Given the description of an element on the screen output the (x, y) to click on. 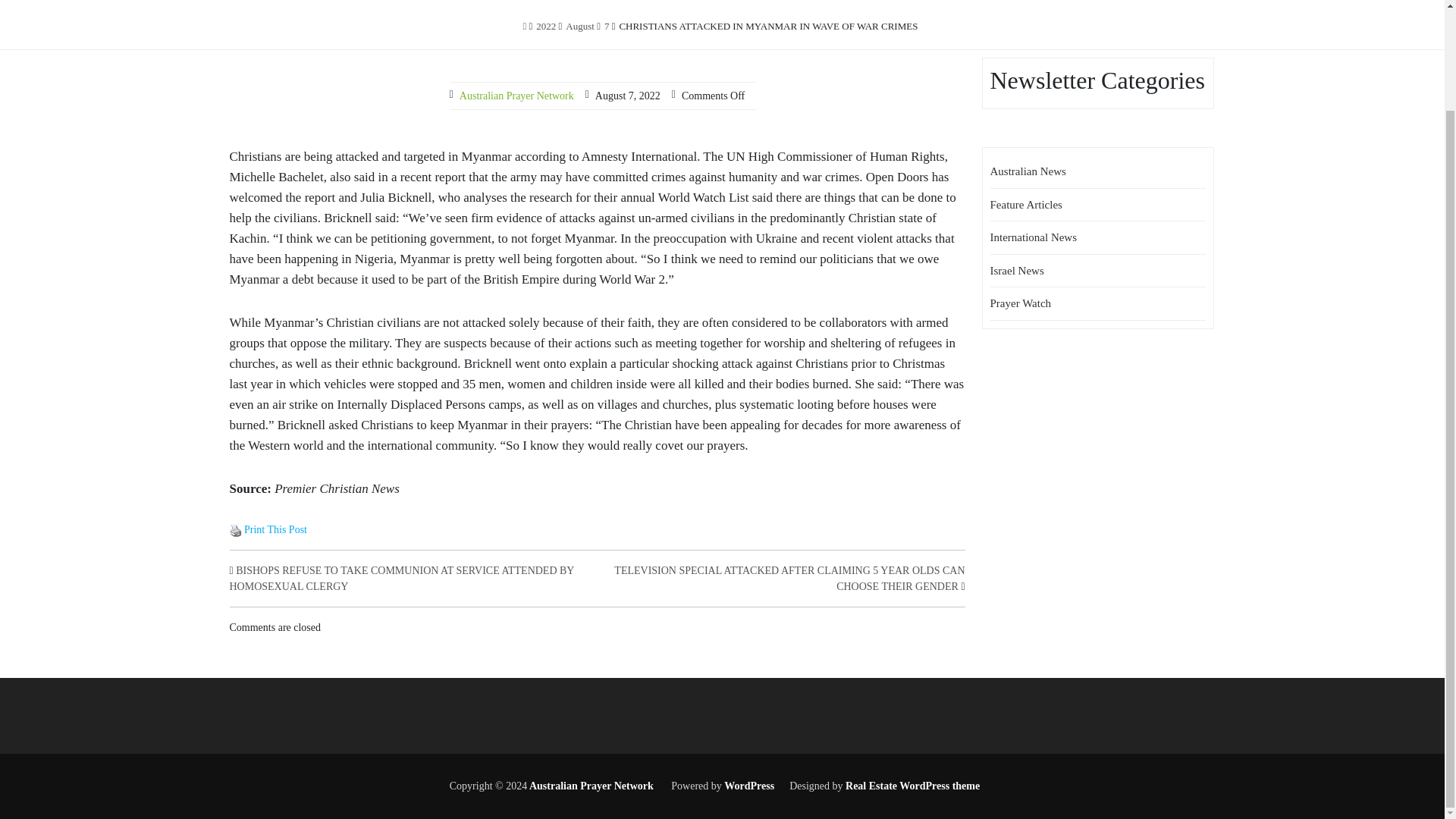
Print This Post (275, 529)
Posts by Australian Prayer Network (516, 95)
Print This Post (234, 530)
Print This Post (234, 529)
